Given the description of an element on the screen output the (x, y) to click on. 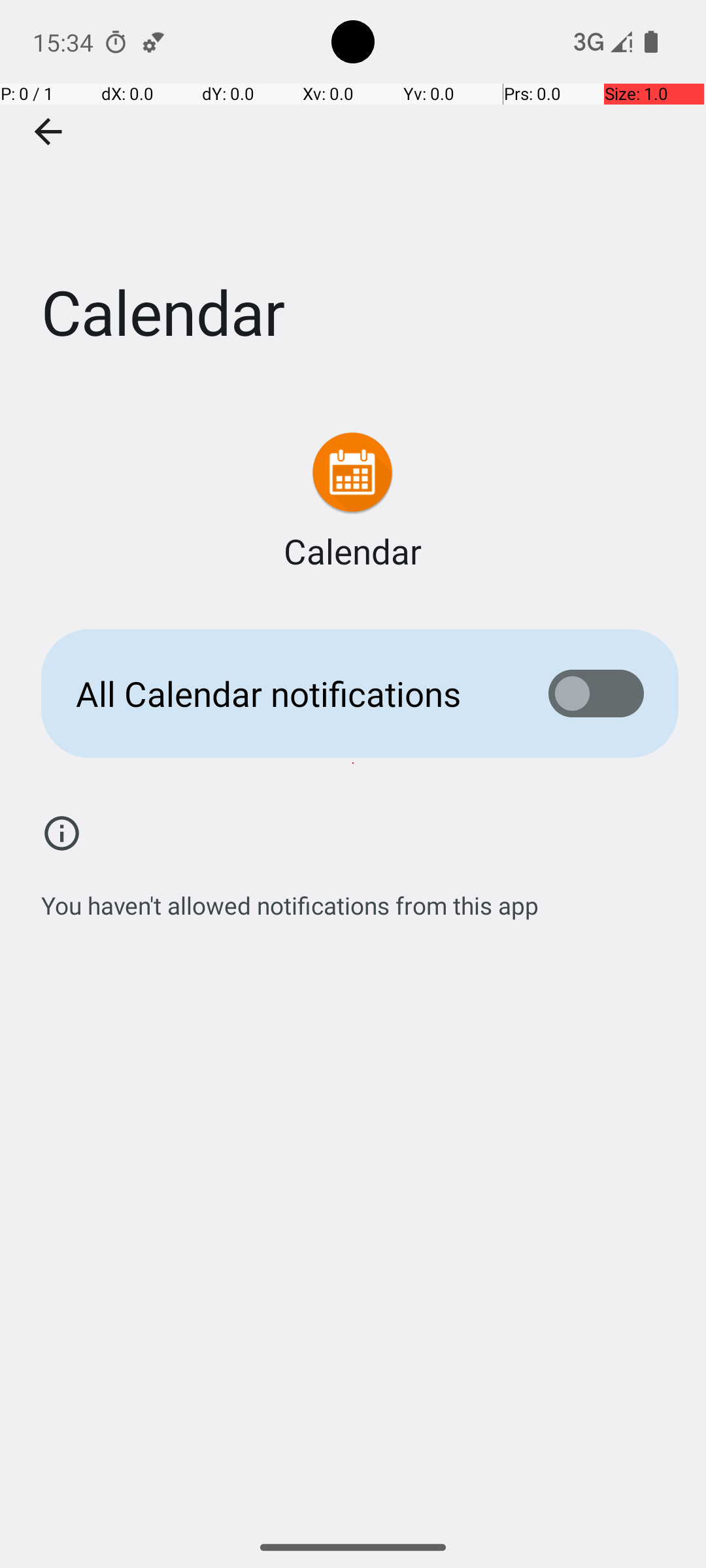
You haven't allowed notifications from this app Element type: android.widget.TextView (290, 898)
